Given the description of an element on the screen output the (x, y) to click on. 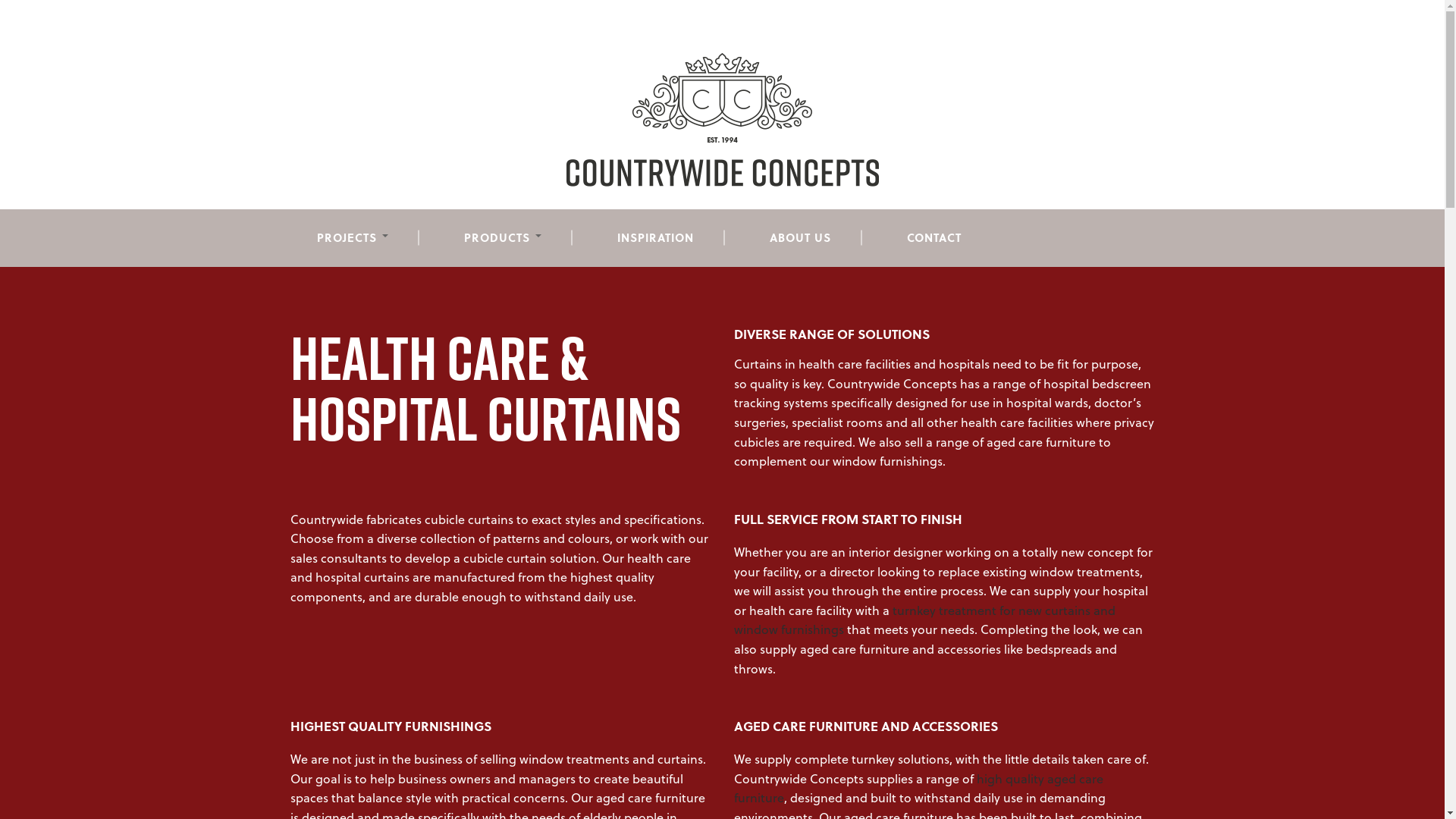
CONTACT Element type: text (934, 237)
INSPIRATION Element type: text (655, 237)
PRODUCTS Element type: text (502, 237)
turnkey treatment for new curtains and window furnishings Element type: text (924, 619)
PROJECTS Element type: text (352, 237)
high quality aged care furniture Element type: text (918, 787)
ABOUT US Element type: text (799, 237)
